Given the description of an element on the screen output the (x, y) to click on. 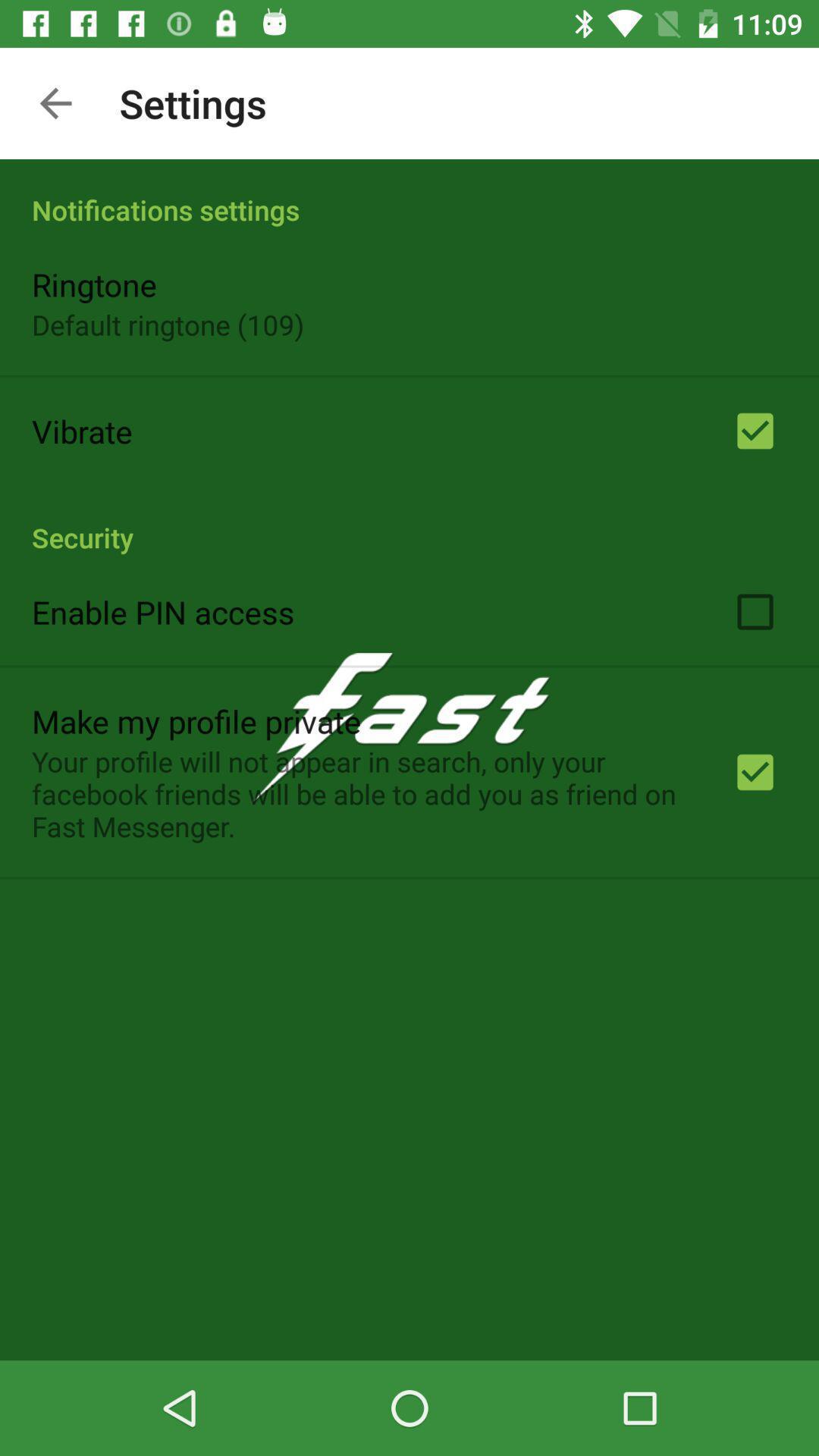
scroll to the security item (409, 521)
